Given the description of an element on the screen output the (x, y) to click on. 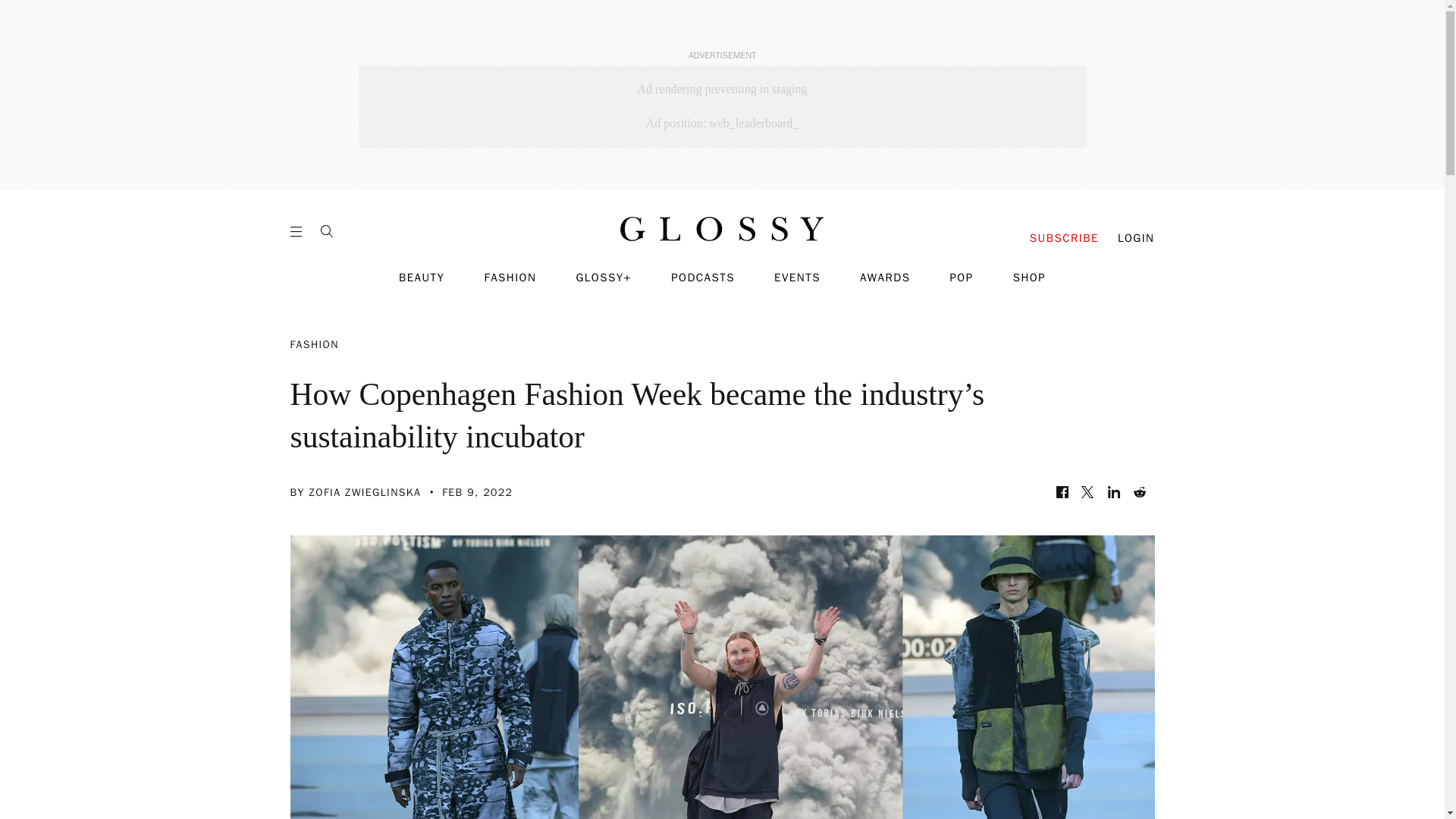
AWARDS (885, 277)
SUBSCRIBE (1064, 238)
FASHION (509, 277)
PODCASTS (703, 277)
POP (960, 277)
EVENTS (797, 277)
SHOP (1029, 277)
BEAUTY (421, 277)
LOGIN (1136, 238)
